Given the description of an element on the screen output the (x, y) to click on. 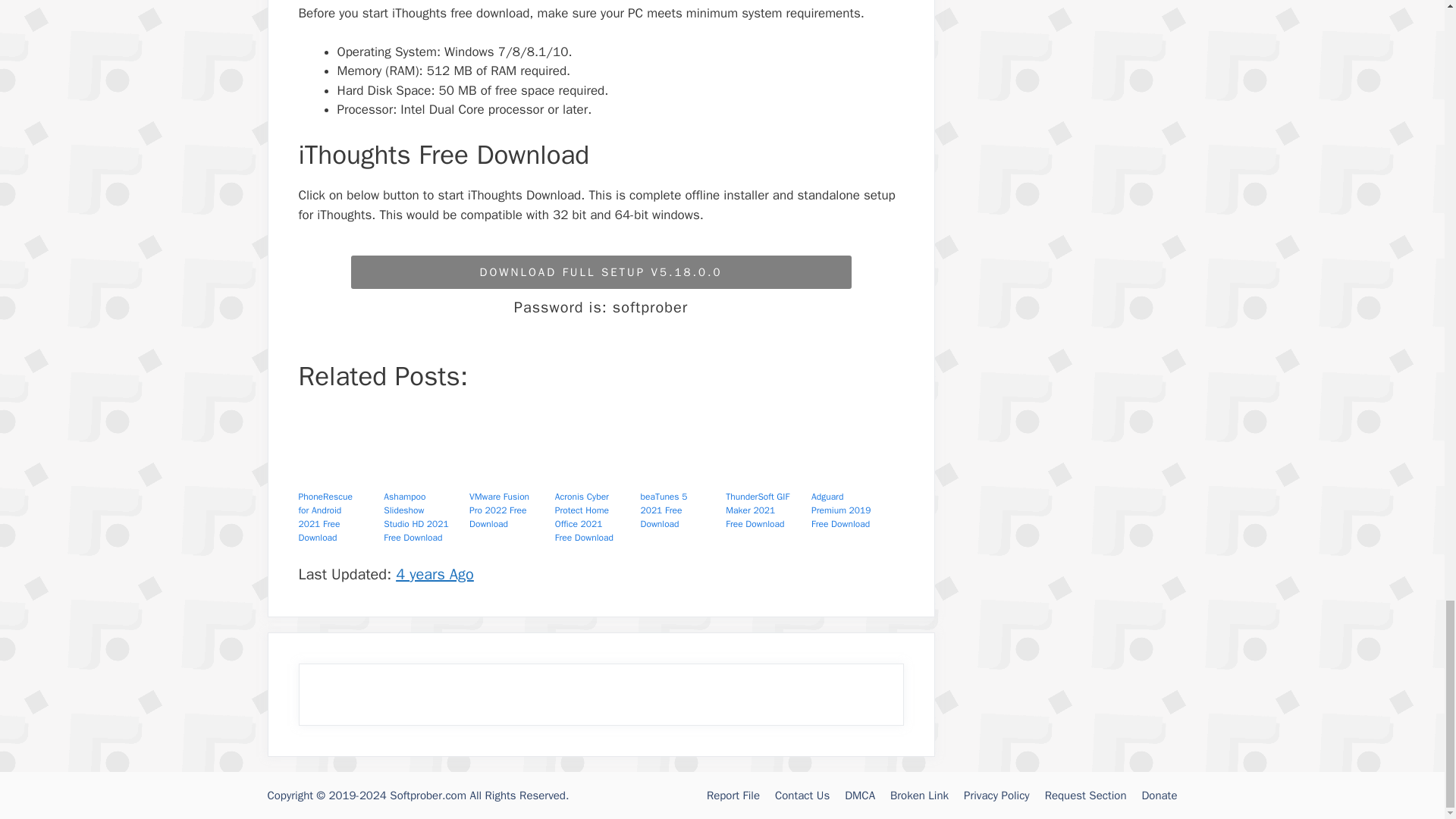
ThunderSoft GIF Maker 2021 Free Download (765, 473)
beaTunes 5 2021 Free Download (680, 473)
Acronis Cyber Protect Home Office 2021 Free Download (594, 473)
Adguard Premium 2019 Free Download (850, 473)
Size: 25 MB (600, 272)
VMware Fusion Pro 2022  Free Download (509, 473)
DOWNLOAD FULL SETUP V5.18.0.0 (600, 272)
Ashampoo Slideshow Studio HD 2021 Free Download (424, 473)
PhoneRescue for Android 2021 Free Download (338, 473)
